Given the description of an element on the screen output the (x, y) to click on. 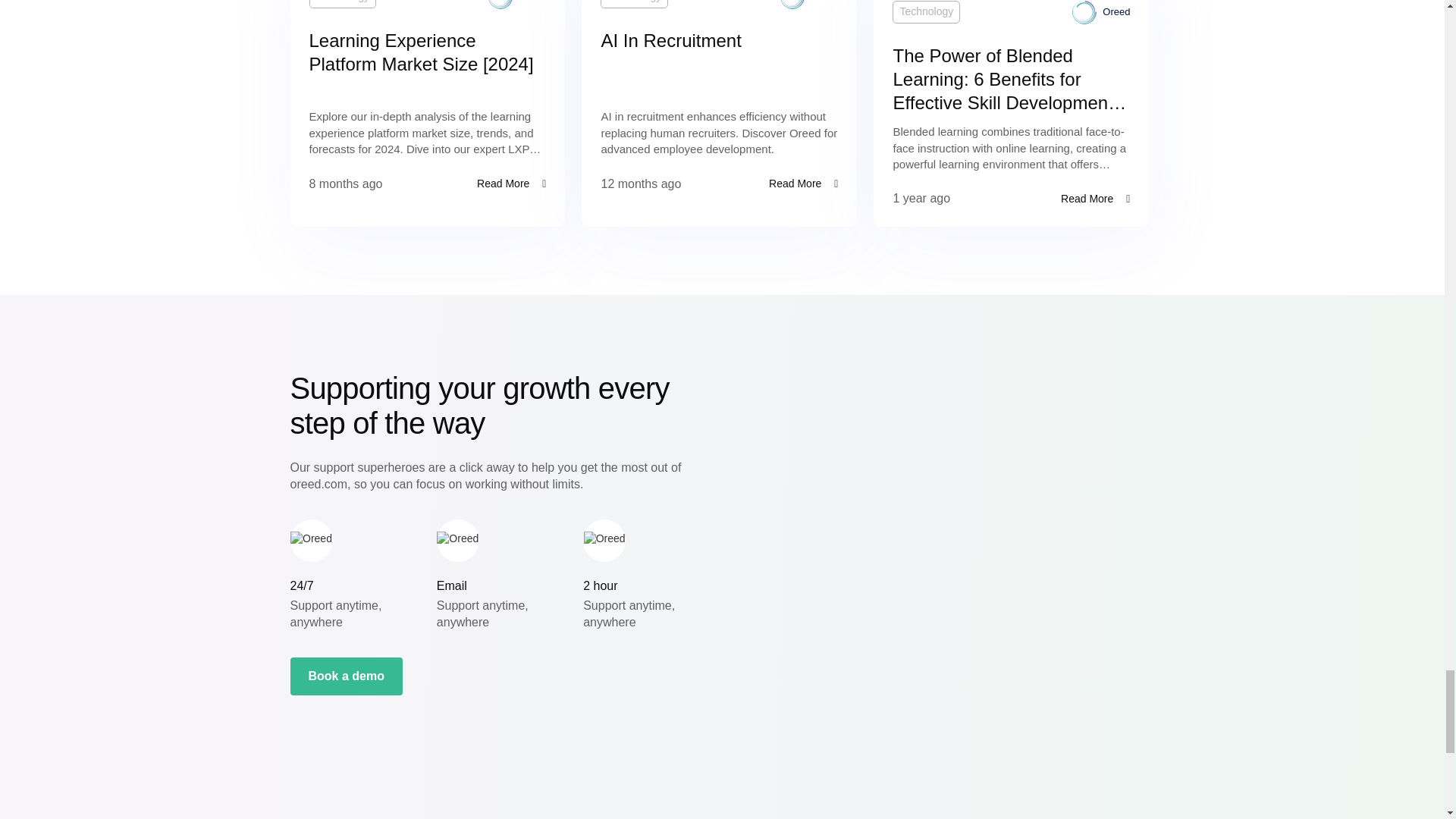
Book a demo (345, 676)
Technology (925, 11)
AI In Recruitment (718, 40)
Read More (1087, 199)
Read More (503, 183)
Technology (342, 4)
Read More (794, 183)
Technology (633, 4)
